Given the description of an element on the screen output the (x, y) to click on. 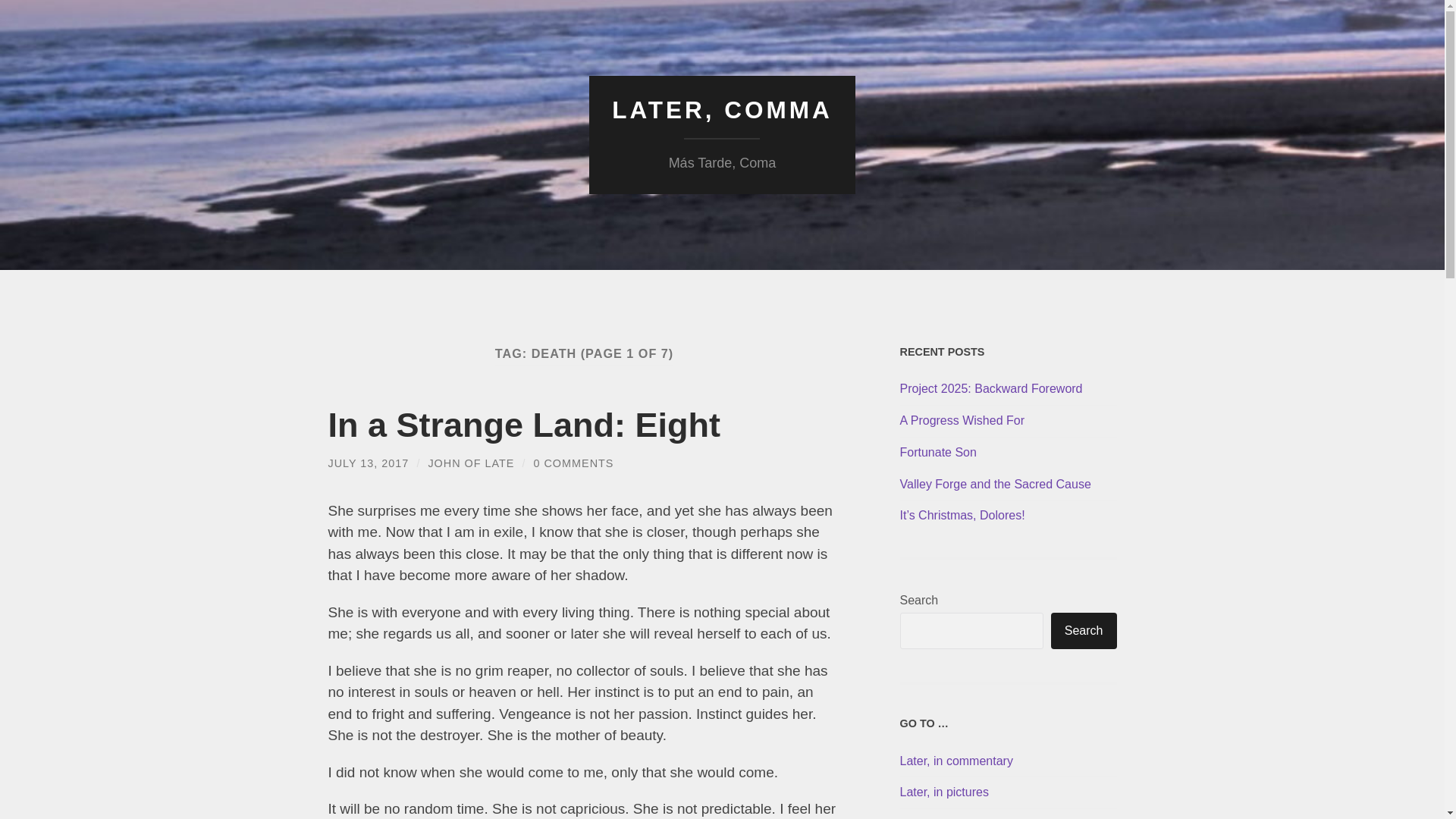
0 COMMENTS (572, 463)
A Progress Wished For (1007, 421)
JULY 13, 2017 (368, 463)
Valley Forge and the Sacred Cause (1007, 484)
Later, in commentary (955, 759)
Posts by John Of Late (470, 463)
Later, in Spanish (944, 818)
Fortunate Son (1007, 453)
Project 2025: Backward Foreword (1007, 389)
LATER, COMMA (721, 109)
